Given the description of an element on the screen output the (x, y) to click on. 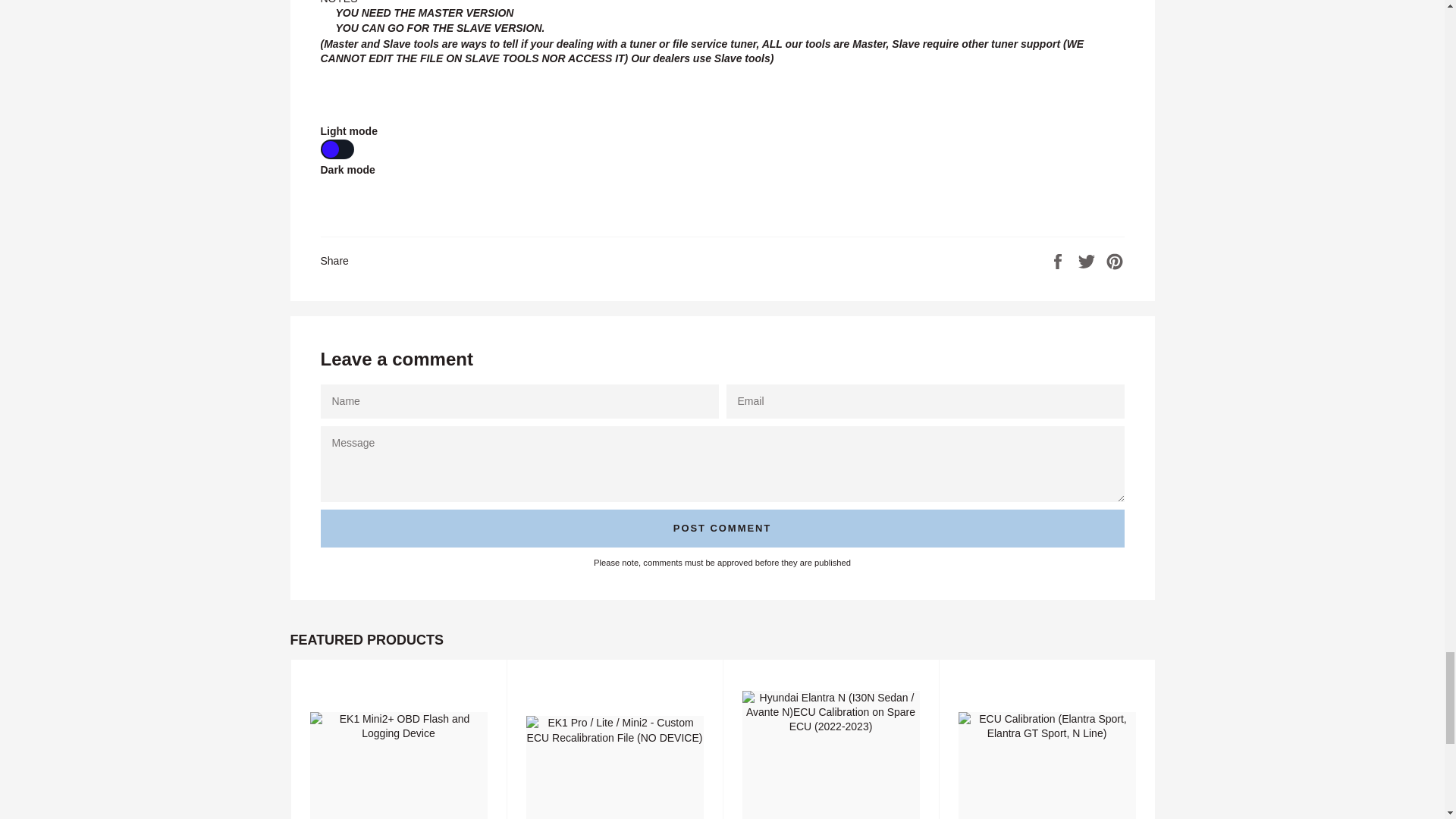
Pin on Pinterest (1114, 259)
Post comment (722, 528)
Tweet on Twitter (1088, 259)
Share on Facebook (1059, 259)
